Given the description of an element on the screen output the (x, y) to click on. 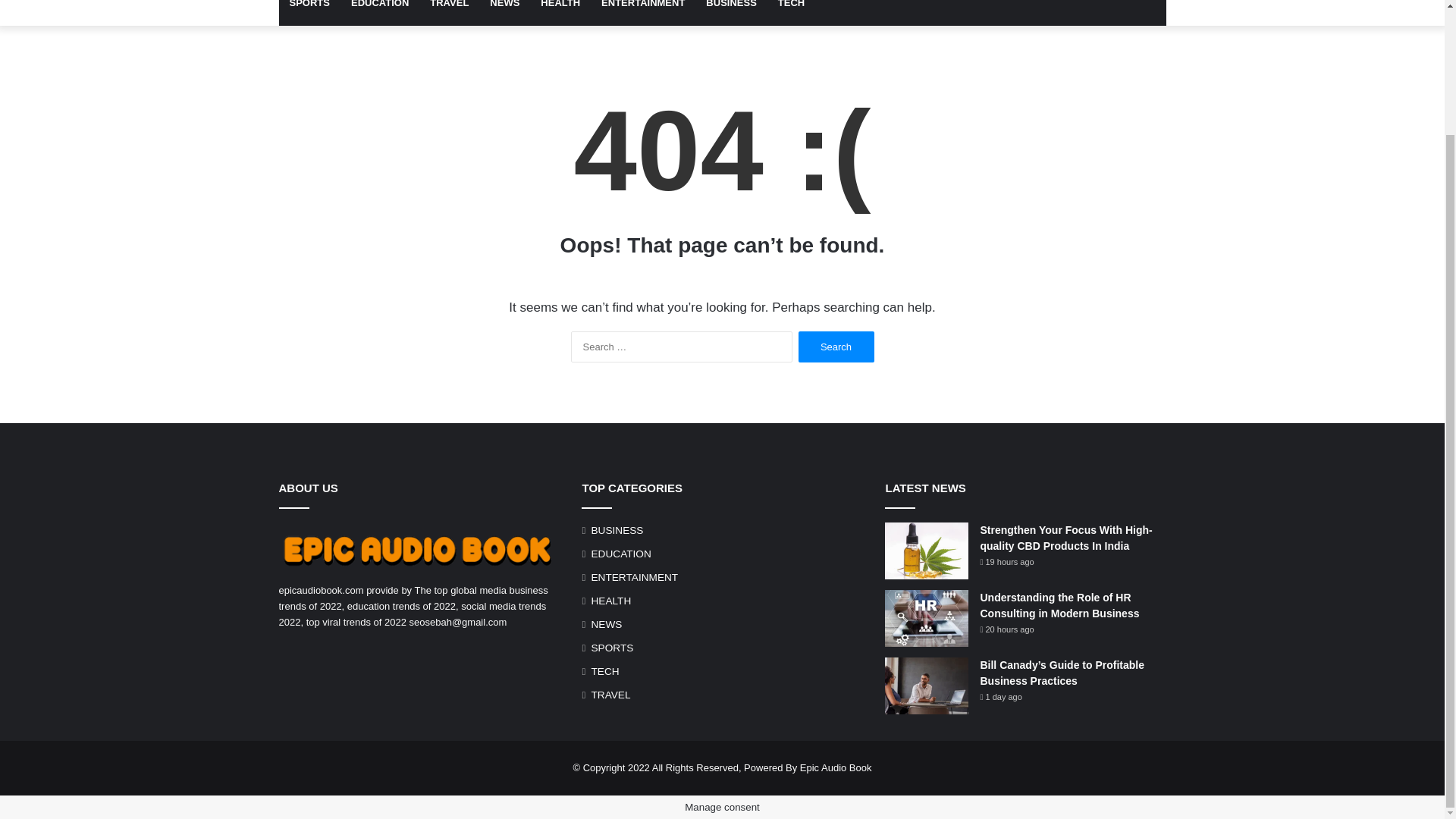
SPORTS (309, 12)
BUSINESS (731, 12)
Search (835, 346)
BUSINESS (617, 530)
TRAVEL (610, 694)
Understanding the Role of HR Consulting in Modern Business (1058, 605)
HEALTH (560, 12)
EDUCATION (379, 12)
Search (835, 346)
